Given the description of an element on the screen output the (x, y) to click on. 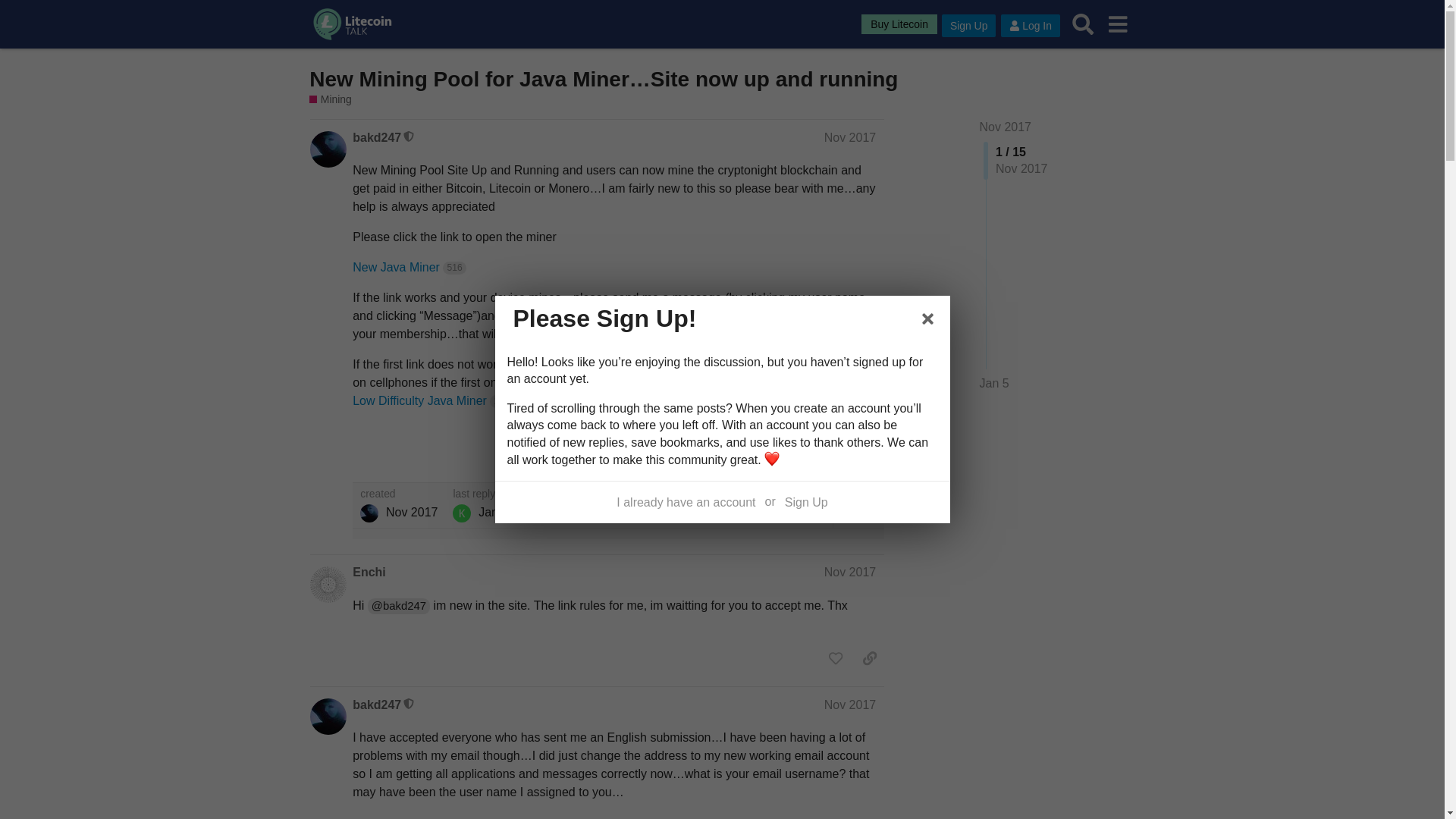
Nov 6, 2017 8:03 am (411, 512)
2 (803, 504)
516 clicks (453, 267)
Jump to the first post (1005, 126)
bakd247 (368, 513)
Nov 2017 (850, 571)
expand topic details (857, 505)
Jan 5 (994, 383)
Search (1082, 23)
This user is a moderator (408, 137)
152 clicks (500, 400)
Nov 2017 (850, 137)
6 (743, 504)
1 (832, 453)
Nov 2017 (850, 704)
